Given the description of an element on the screen output the (x, y) to click on. 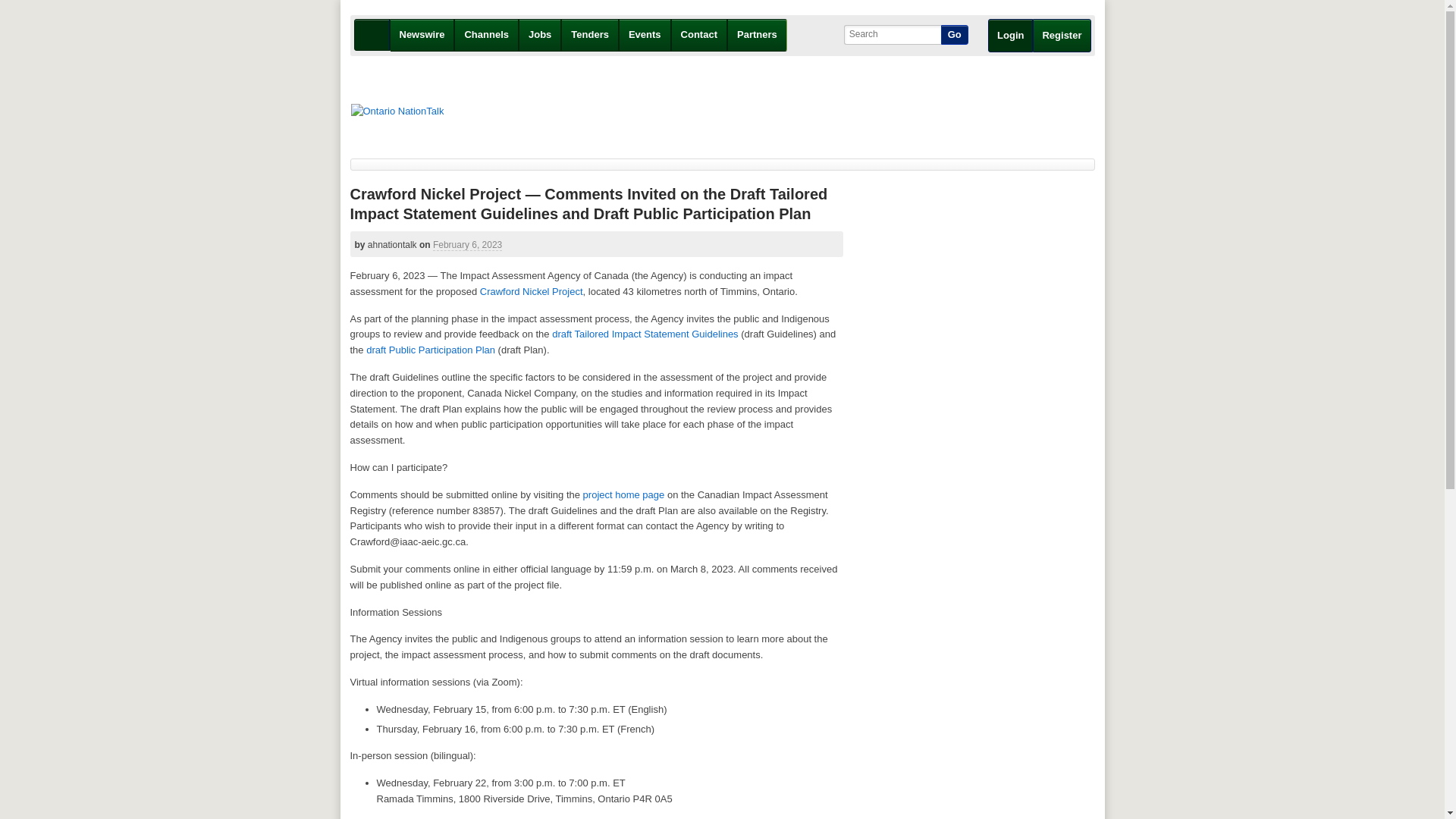
Contact (698, 34)
Jobs (539, 34)
draft Tailored Impact Statement Guidelines (644, 333)
Go (954, 35)
Register (1061, 35)
3:50 pm (467, 244)
Newswire (421, 34)
Channels (486, 34)
Partners (757, 34)
Return to Homepage (397, 111)
Go (954, 35)
Crawford Nickel Project (531, 291)
project home page (624, 494)
draft Public Participation Plan (430, 349)
Tenders (589, 34)
